Given the description of an element on the screen output the (x, y) to click on. 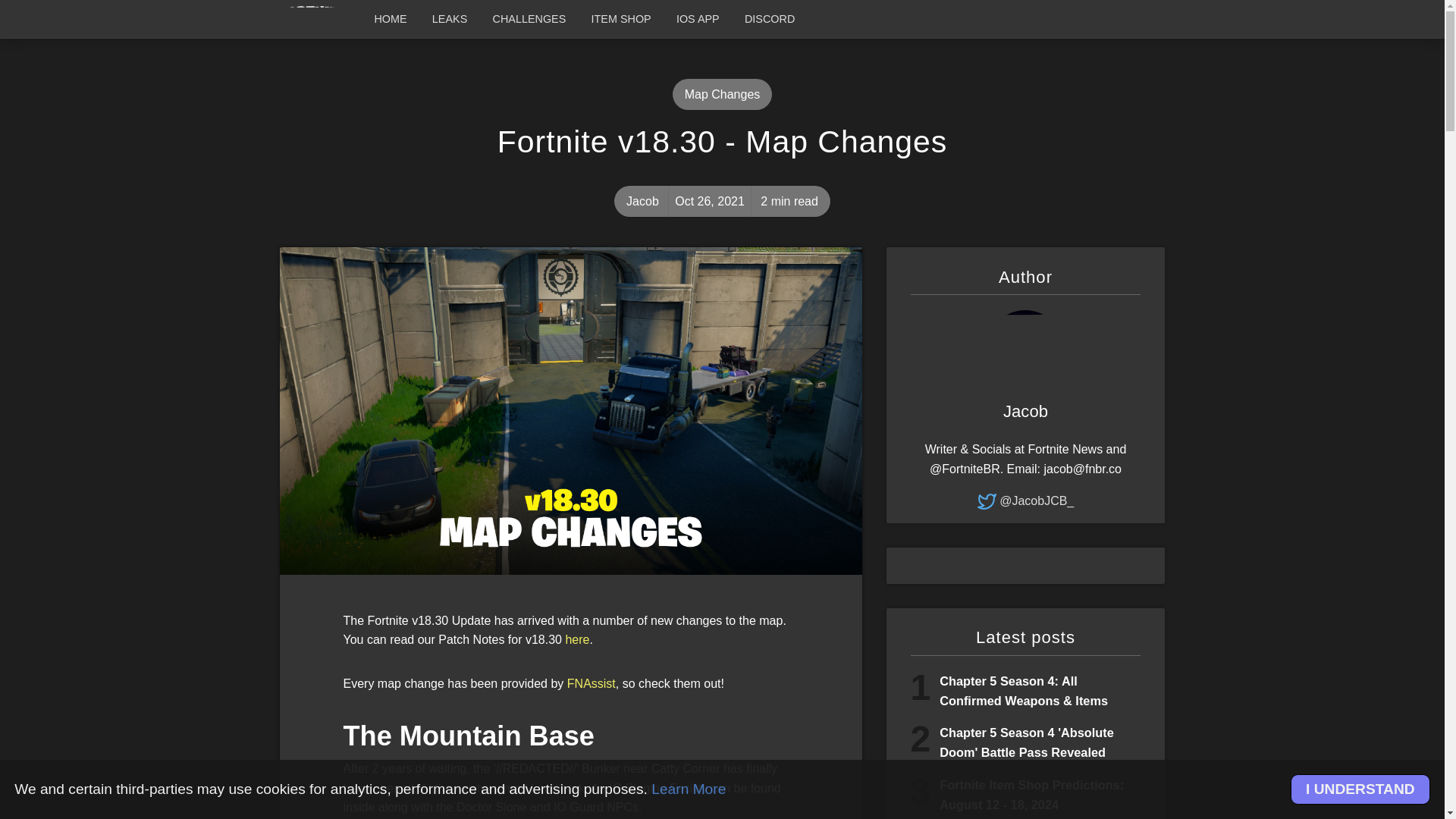
Jacob (1025, 411)
ITEM SHOP (620, 18)
IOS APP (697, 18)
Map Changes (722, 94)
DISCORD (769, 18)
Jacob (642, 201)
Map Changes (722, 94)
CHALLENGES (528, 18)
Fortnite Item Shop Predictions: August 12 - 18, 2024 (1031, 795)
HOME (389, 18)
